Given the description of an element on the screen output the (x, y) to click on. 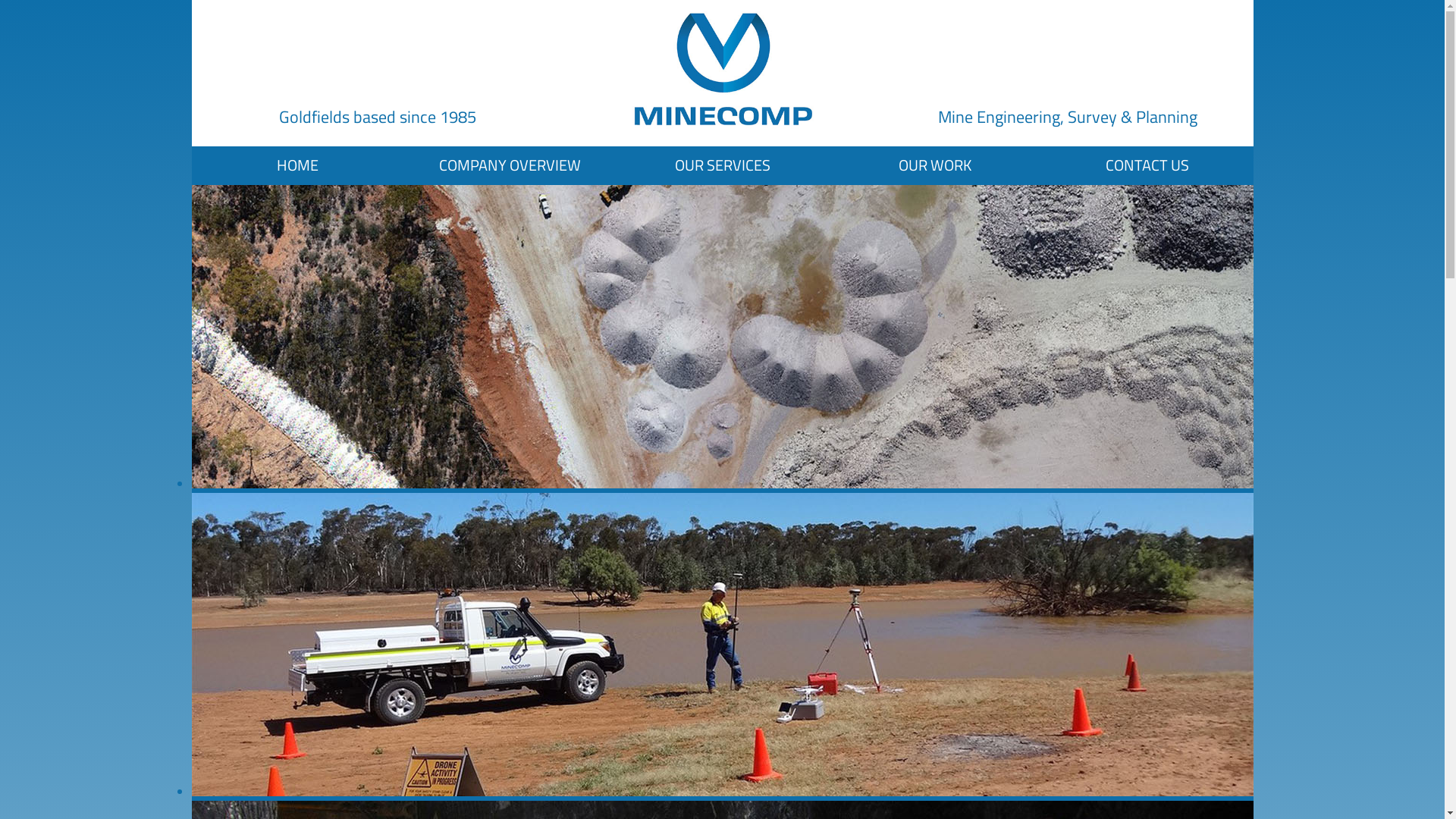
HOME Element type: text (297, 165)
COMPANY OVERVIEW Element type: text (509, 165)
OUR SERVICES Element type: text (721, 165)
CONTACT US Element type: text (1146, 165)
OUR WORK Element type: text (934, 165)
